Given the description of an element on the screen output the (x, y) to click on. 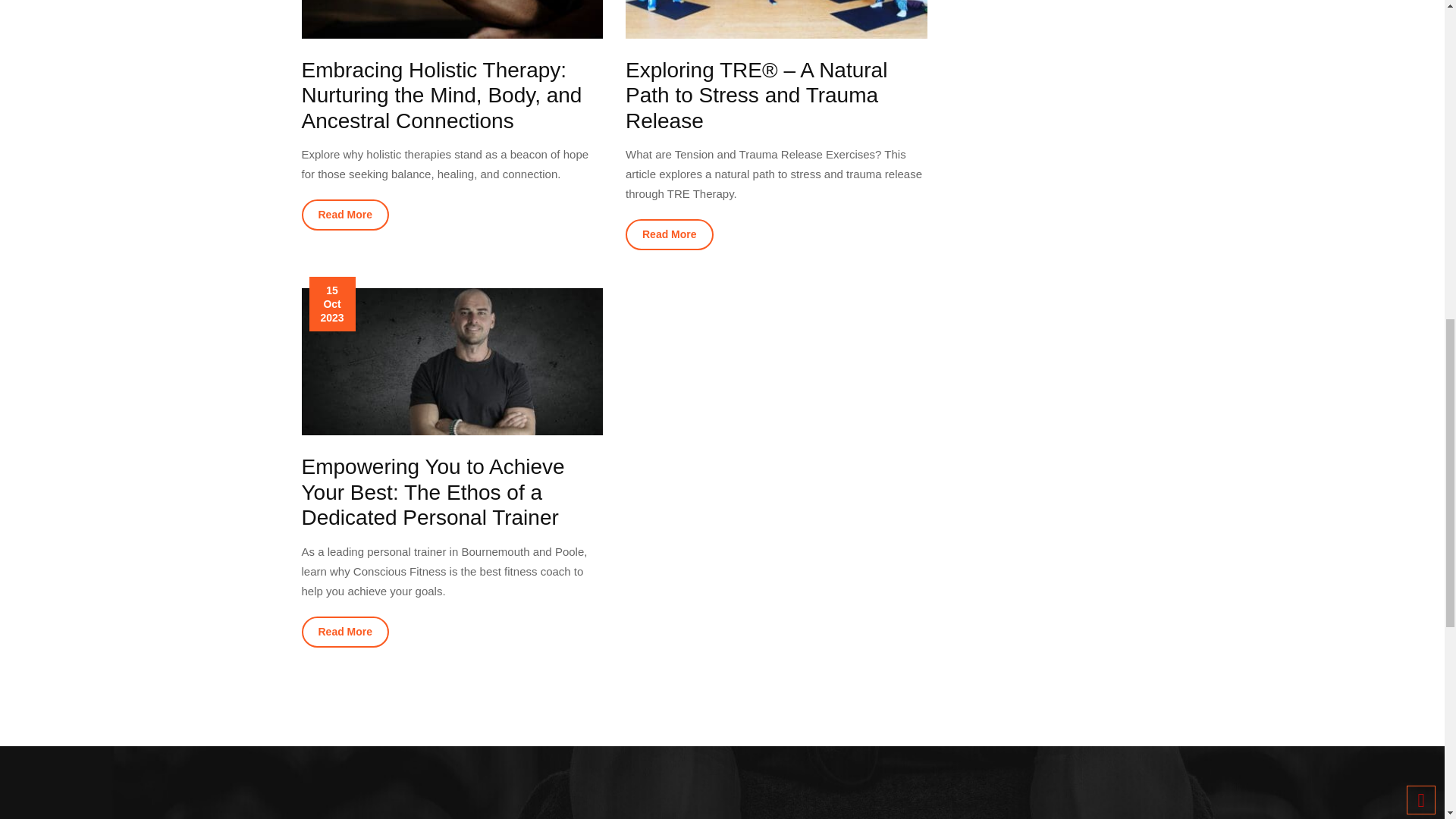
Read More (669, 234)
Read More (345, 631)
Read More (345, 214)
